Given the description of an element on the screen output the (x, y) to click on. 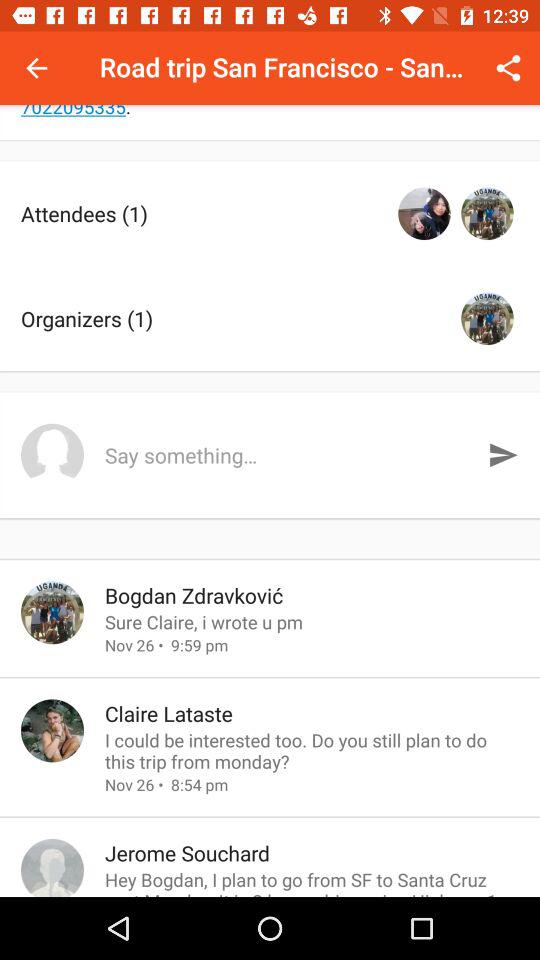
select the icon second which is right to attendees1 (487, 214)
select 1 line text which is at the bottom of the page (311, 881)
